Given the description of an element on the screen output the (x, y) to click on. 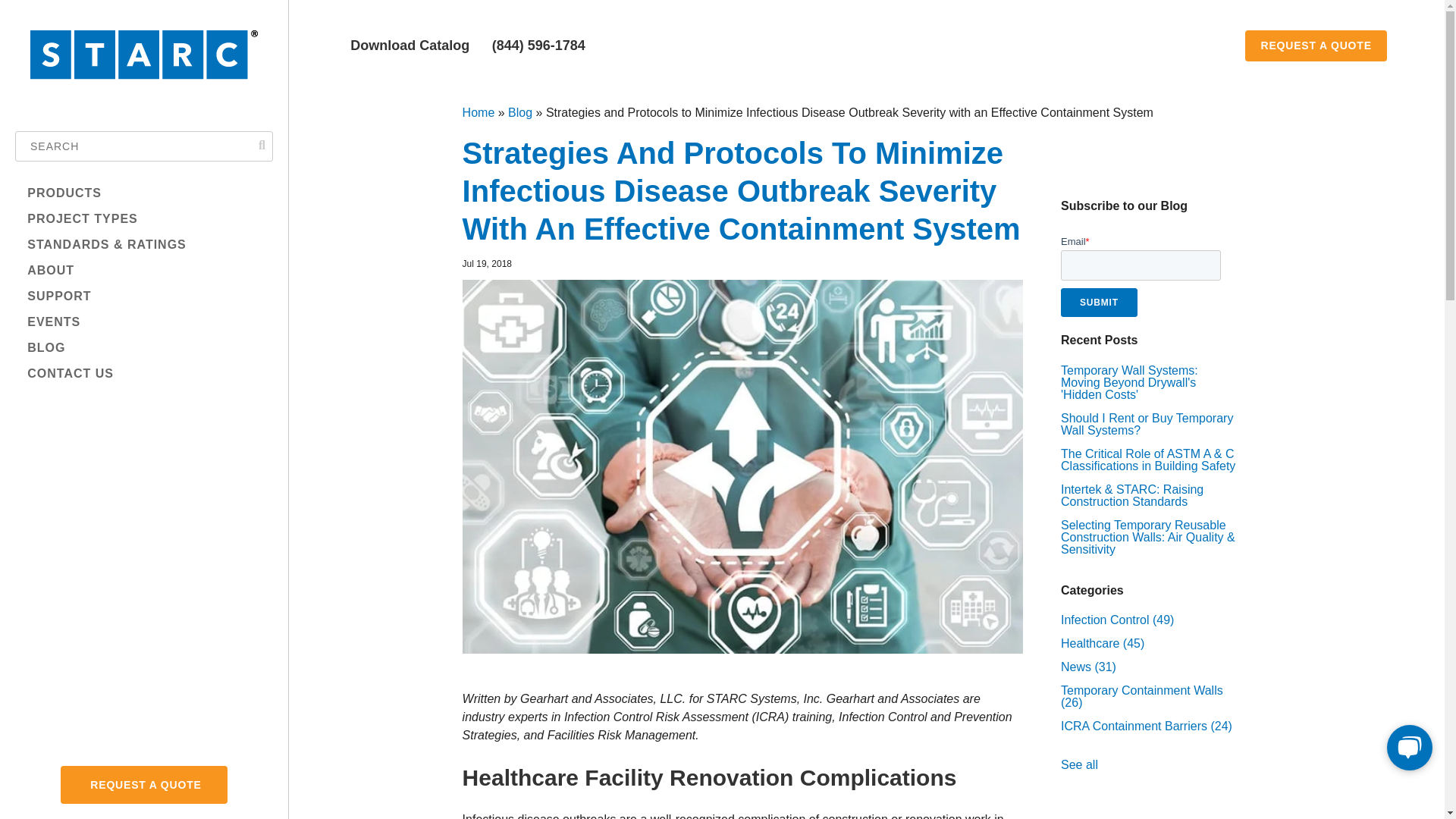
Submit (1099, 302)
STARC Systems (143, 80)
Request a Quote (1315, 45)
Request a Quote (144, 784)
PRODUCTS (137, 193)
Call STARC Systems (536, 45)
